Given the description of an element on the screen output the (x, y) to click on. 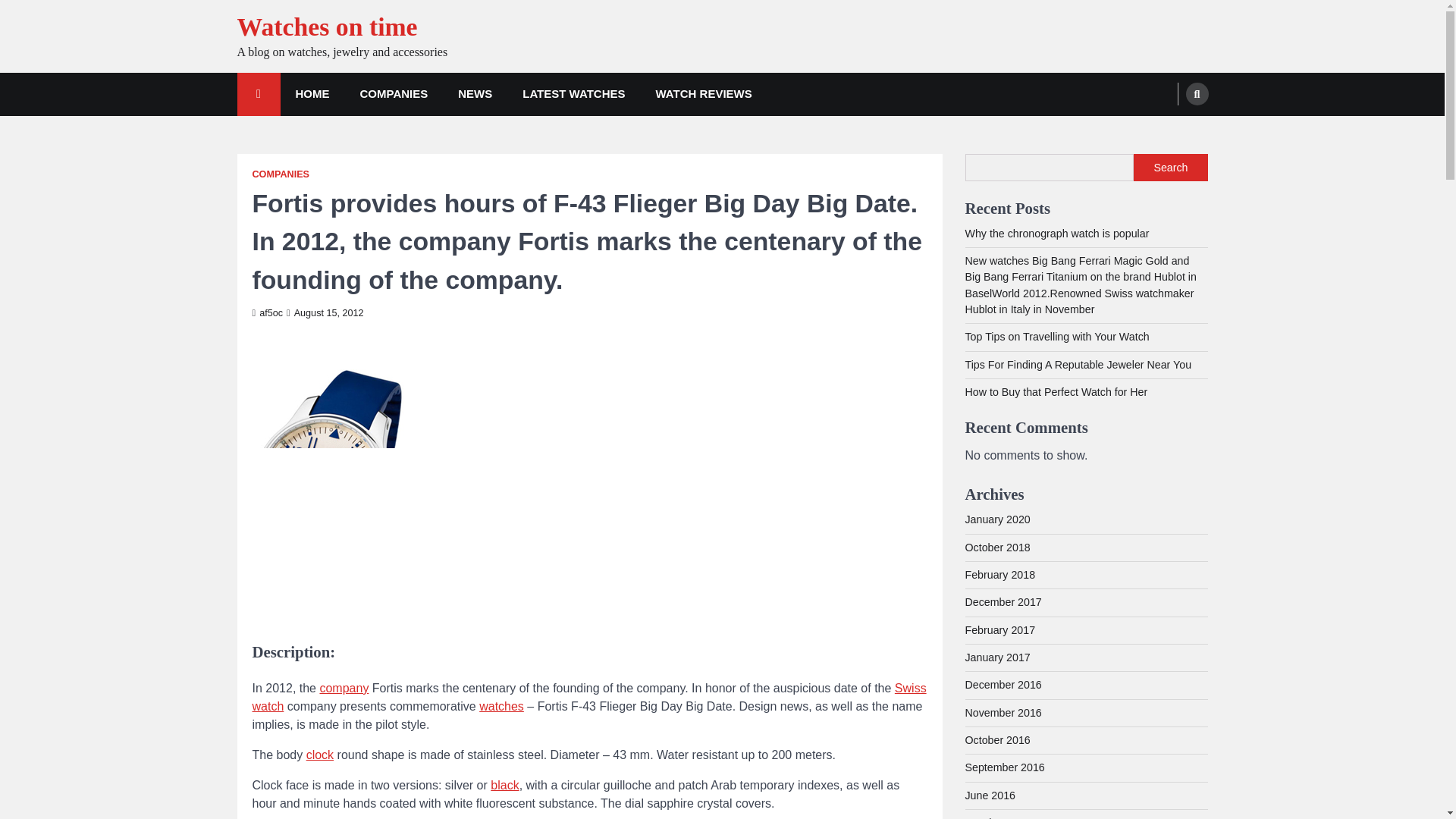
HOME (313, 94)
Tips For Finding A Reputable Jeweler Near You (1077, 364)
Watches on time (325, 26)
Top Tips on Travelling with Your Watch (1055, 336)
NEWS (474, 94)
LATEST WATCHES (573, 94)
August 15, 2012 (325, 312)
Search (1170, 166)
Search (1197, 93)
